Given the description of an element on the screen output the (x, y) to click on. 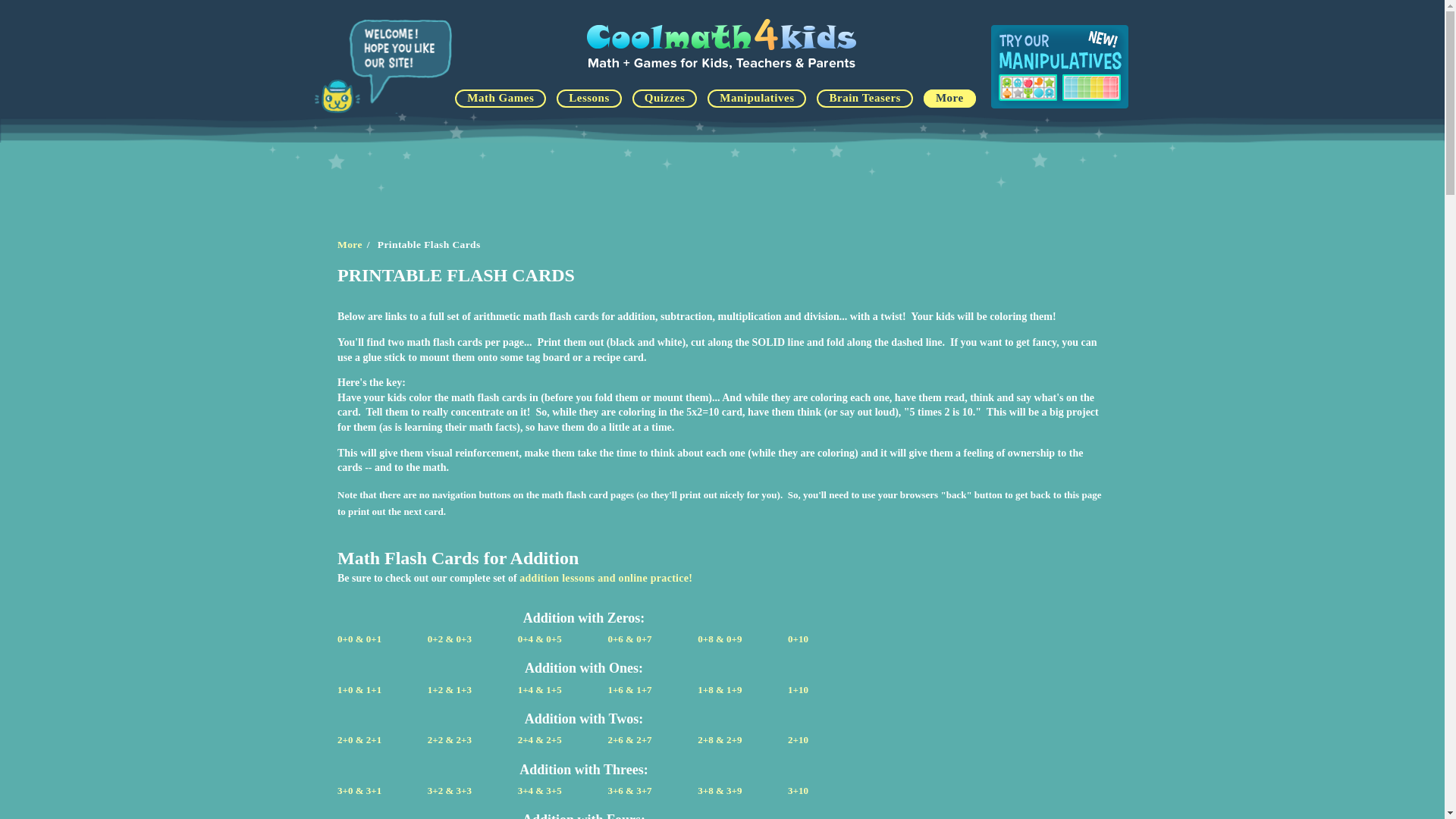
More (349, 244)
Brain Teasers (864, 98)
Quizzes (664, 98)
Manipulatives (756, 98)
Manipulatives (1059, 66)
Lessons (588, 98)
More (949, 98)
addition lessons and online practice! (606, 577)
Math Games (500, 98)
Home (722, 69)
